Given the description of an element on the screen output the (x, y) to click on. 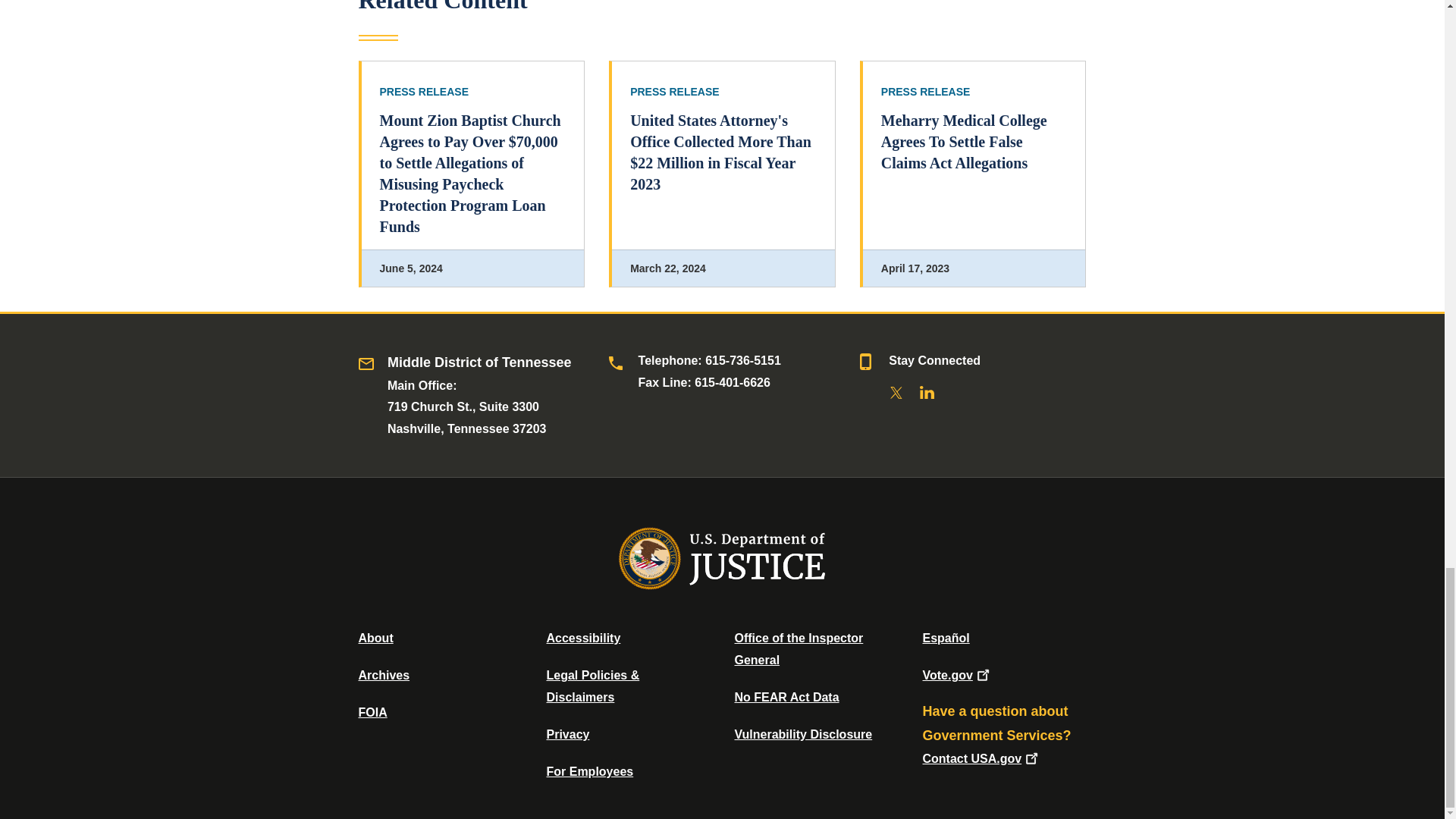
Data Posted Pursuant To The No Fear Act (785, 697)
Department of Justice Archive (383, 675)
Office of Information Policy (372, 712)
Accessibility Statement (583, 637)
For Employees (589, 771)
About DOJ (375, 637)
Legal Policies and Disclaimers (592, 686)
